Given the description of an element on the screen output the (x, y) to click on. 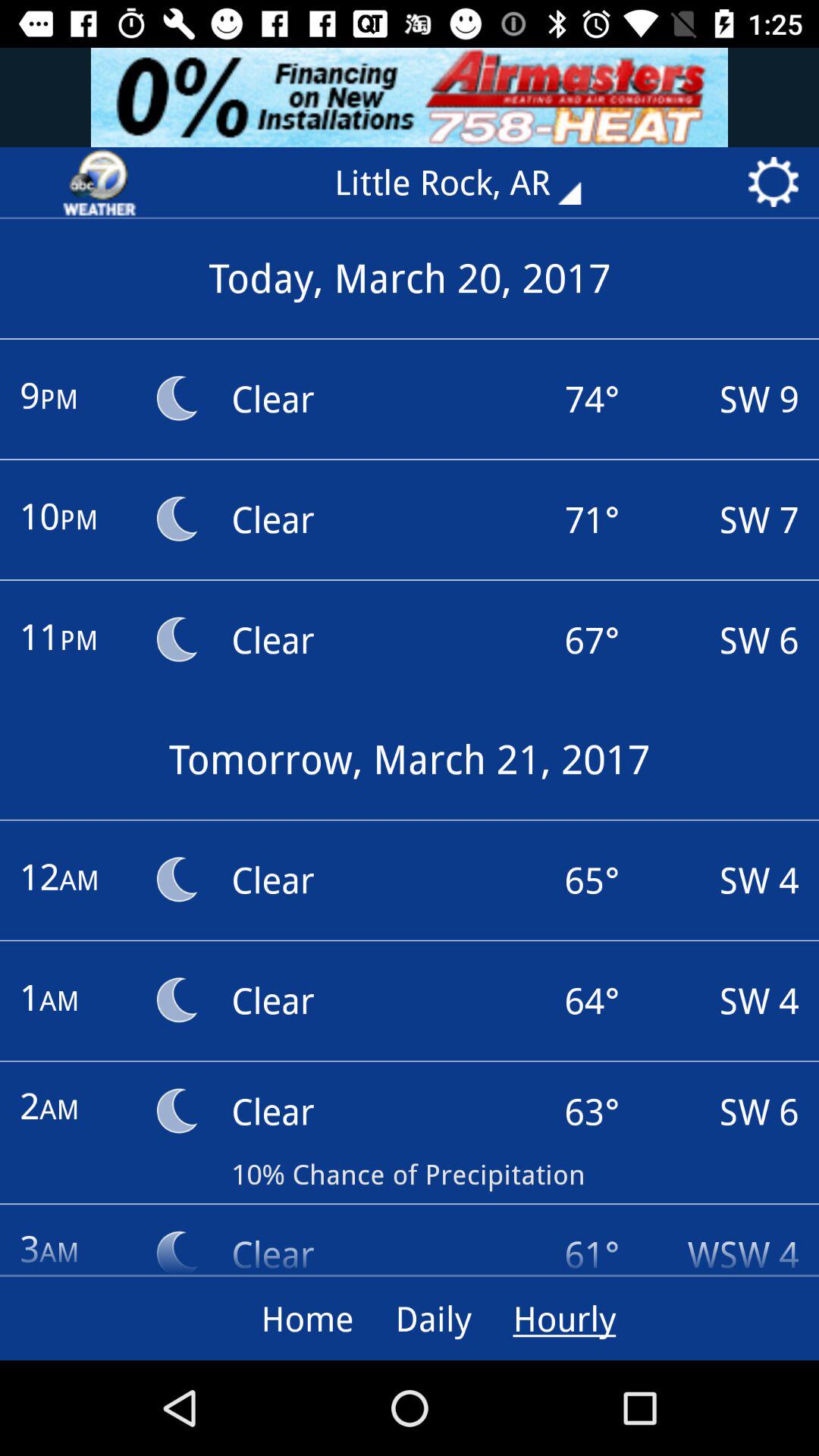
click on the moon icon beside 12am (175, 880)
select the hourly (564, 1317)
go to moon icon next to text 9pm (175, 398)
